Given the description of an element on the screen output the (x, y) to click on. 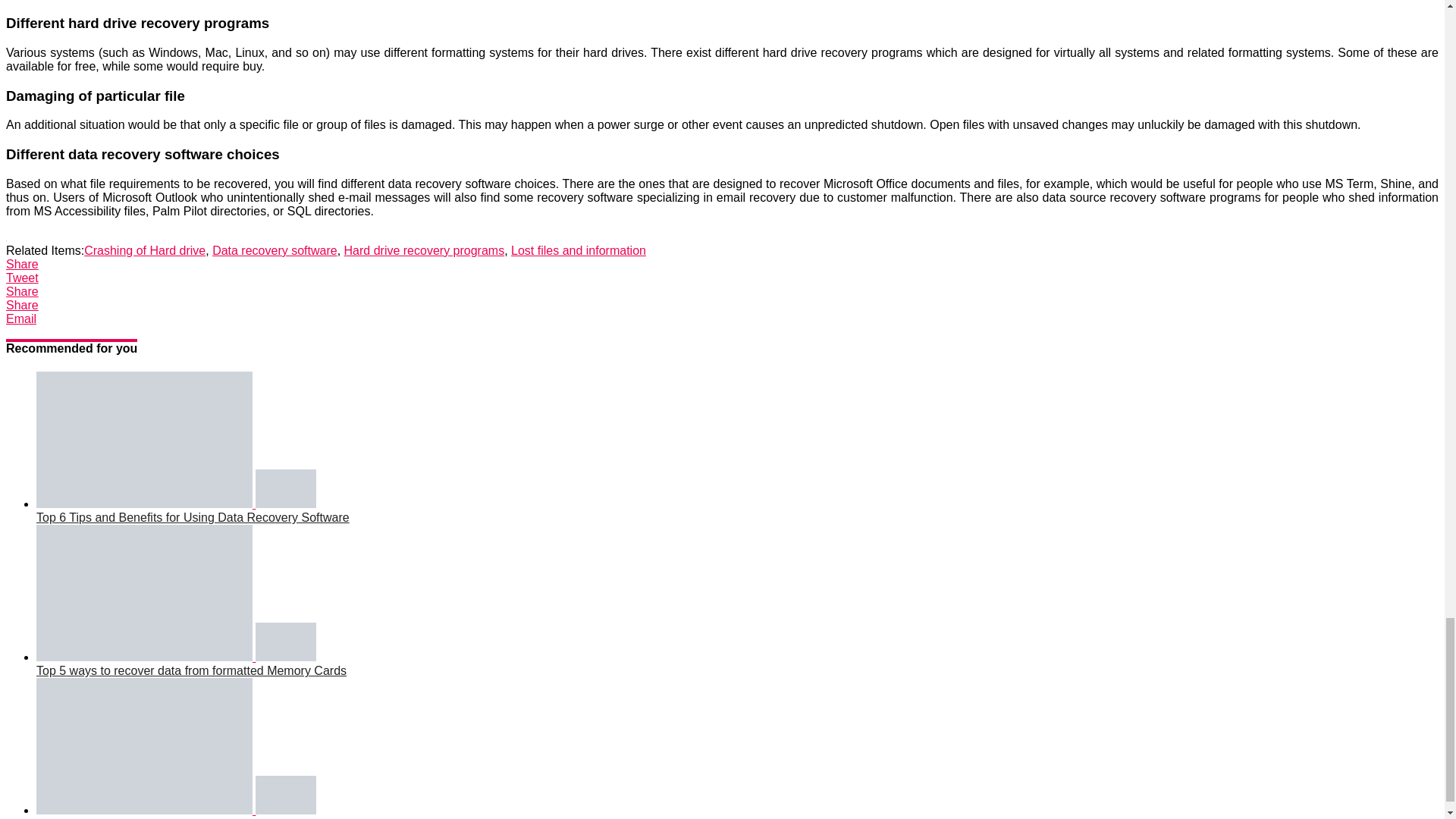
Top 6 Tips and Benefits for Using Data Recovery Software (175, 503)
Top 5 ways to recover data from formatted Memory Cards (175, 656)
How to recover hard drive data perfectly (175, 809)
